Given the description of an element on the screen output the (x, y) to click on. 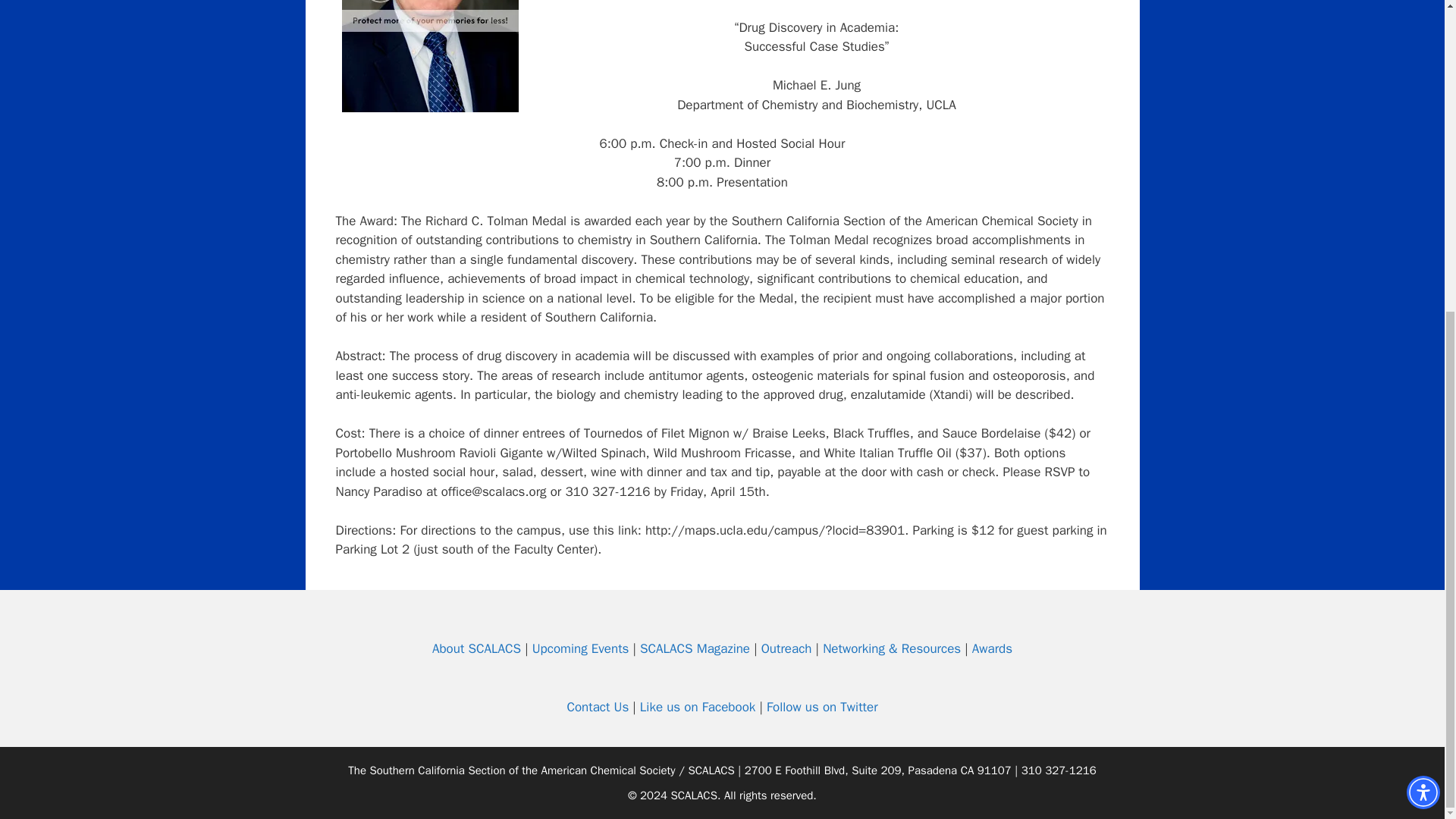
Accessibility Menu (1422, 295)
